Given the description of an element on the screen output the (x, y) to click on. 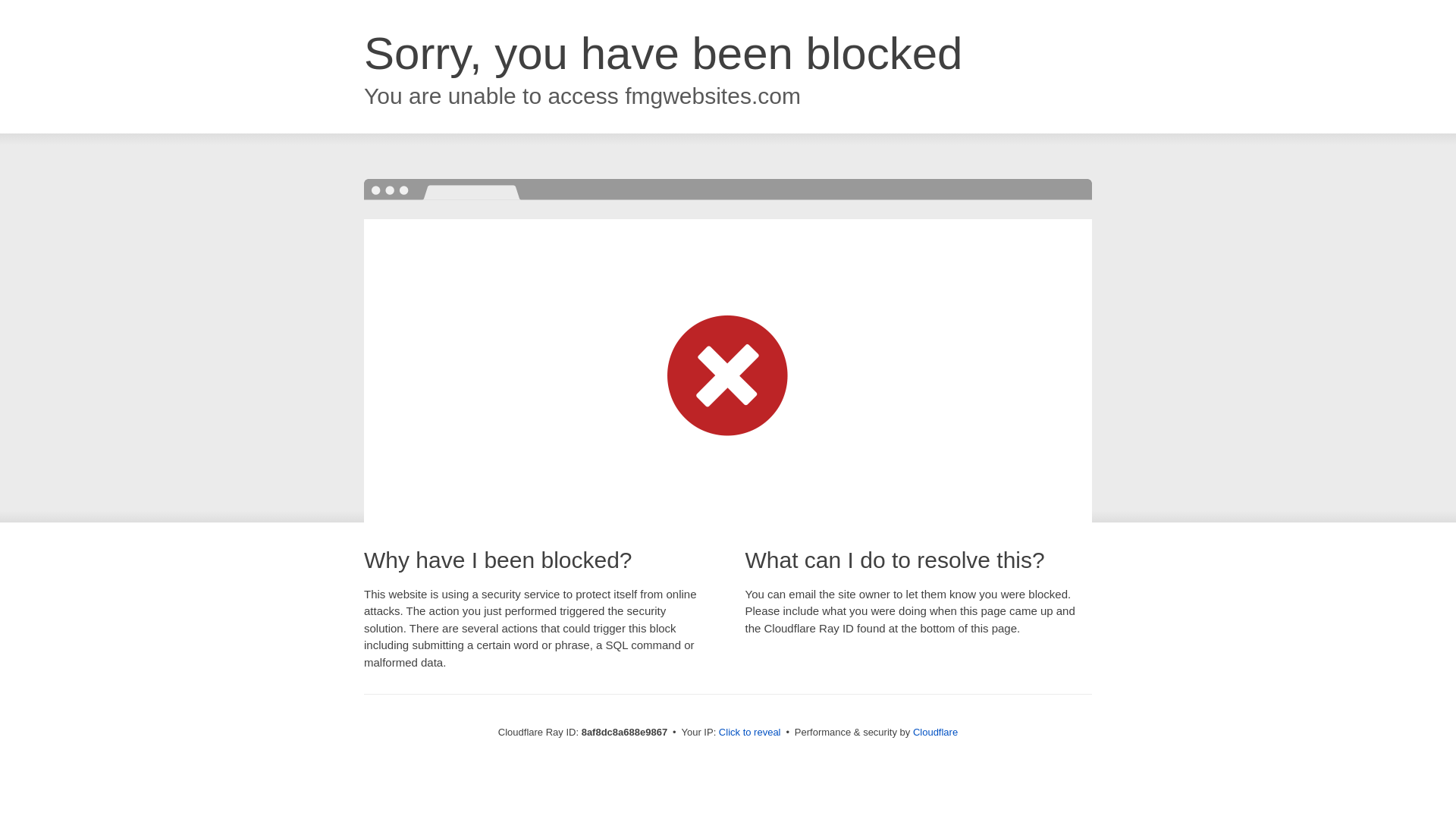
Click to reveal (749, 732)
Cloudflare (935, 731)
